Given the description of an element on the screen output the (x, y) to click on. 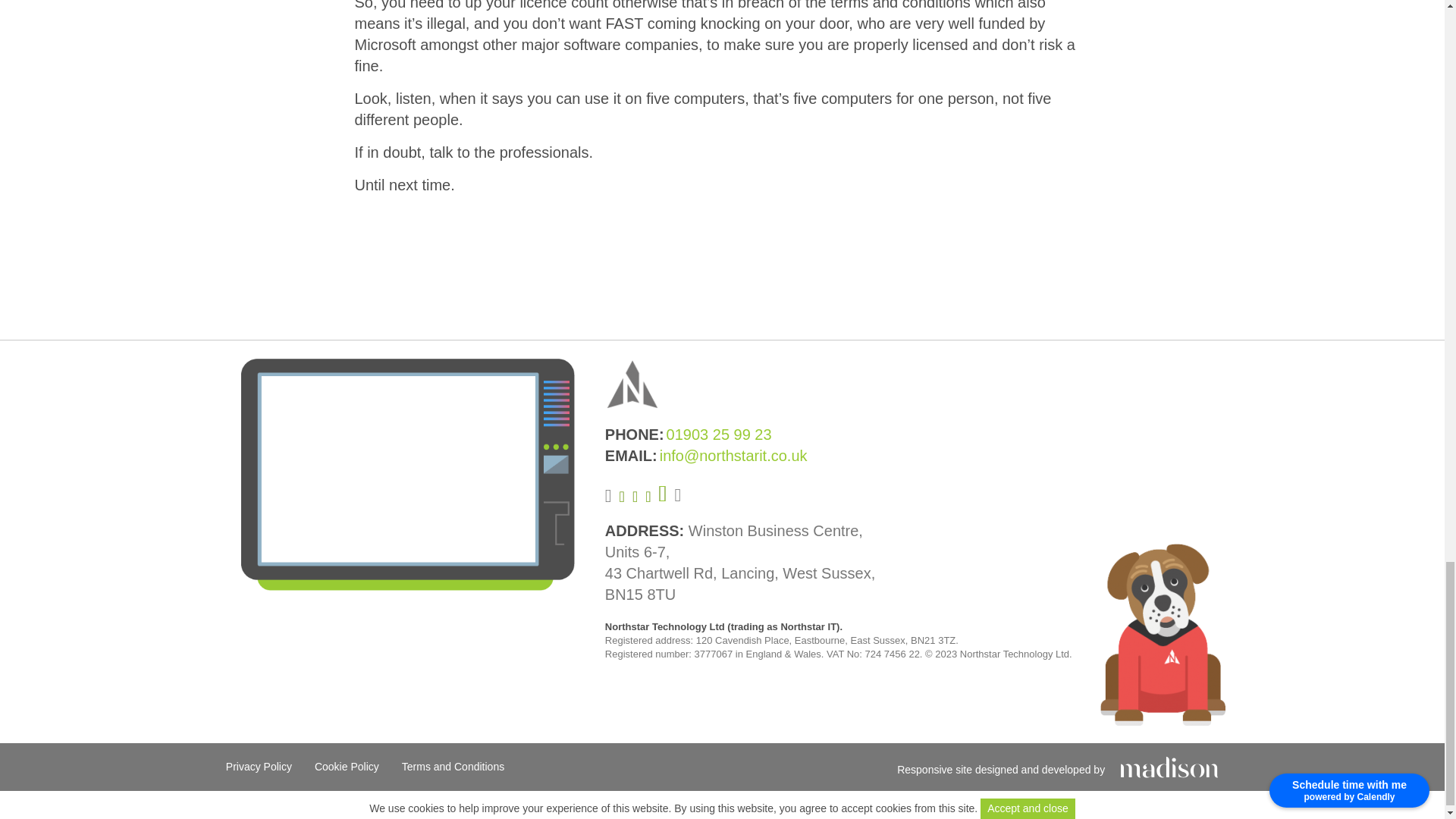
01903 25 99 23 (718, 434)
